Given the description of an element on the screen output the (x, y) to click on. 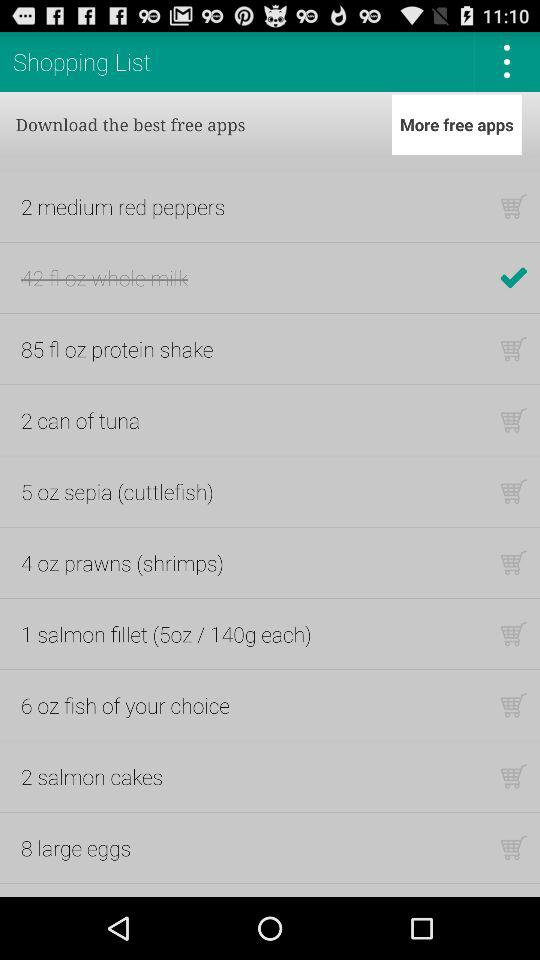
swipe to 1 salmon fillet (166, 633)
